Given the description of an element on the screen output the (x, y) to click on. 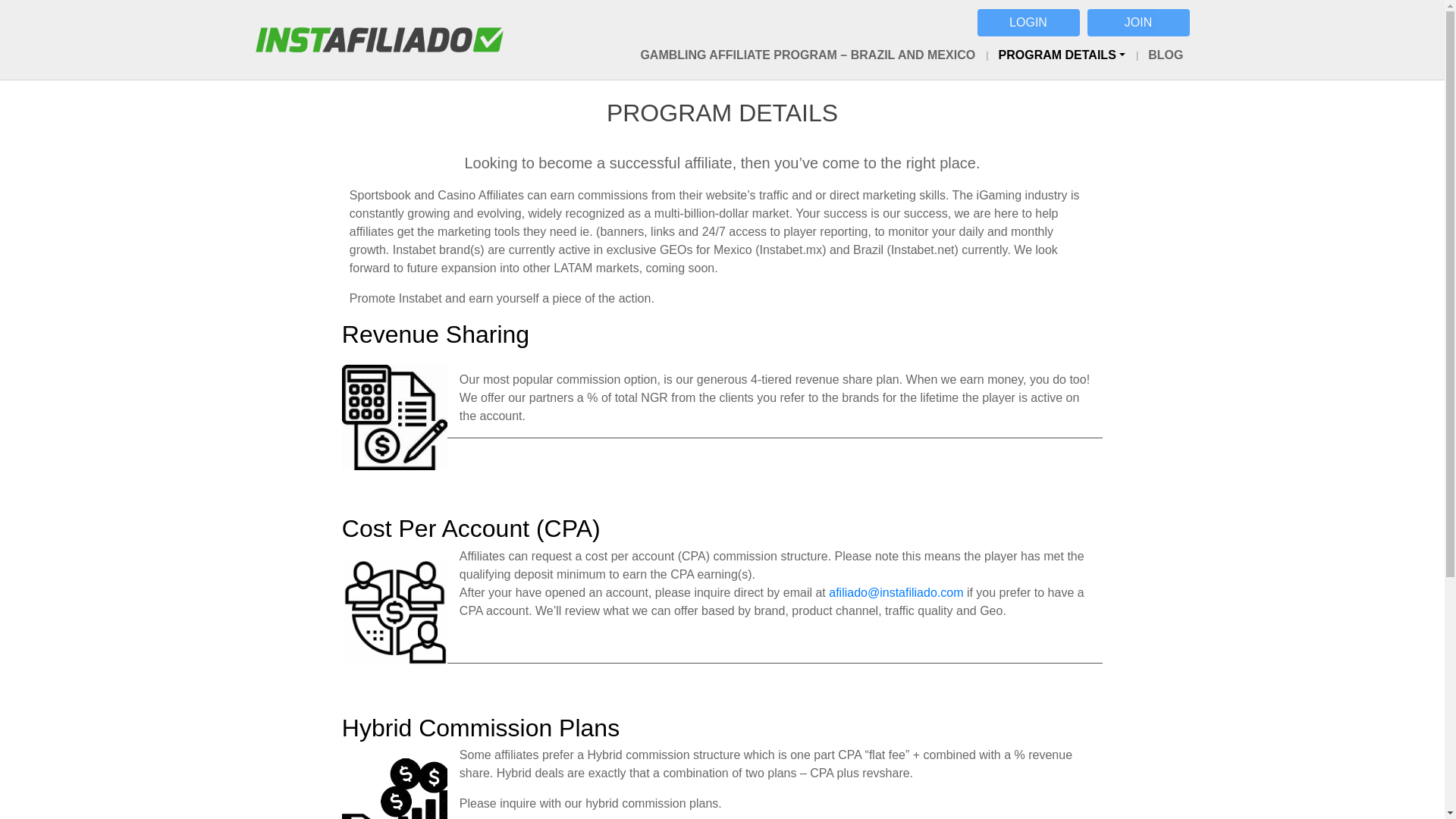
Program Details (1056, 55)
LOGIN (1027, 22)
Blog (1160, 55)
JOIN (1138, 22)
BLOG (1160, 55)
PROGRAM DETAILS (1056, 55)
